Given the description of an element on the screen output the (x, y) to click on. 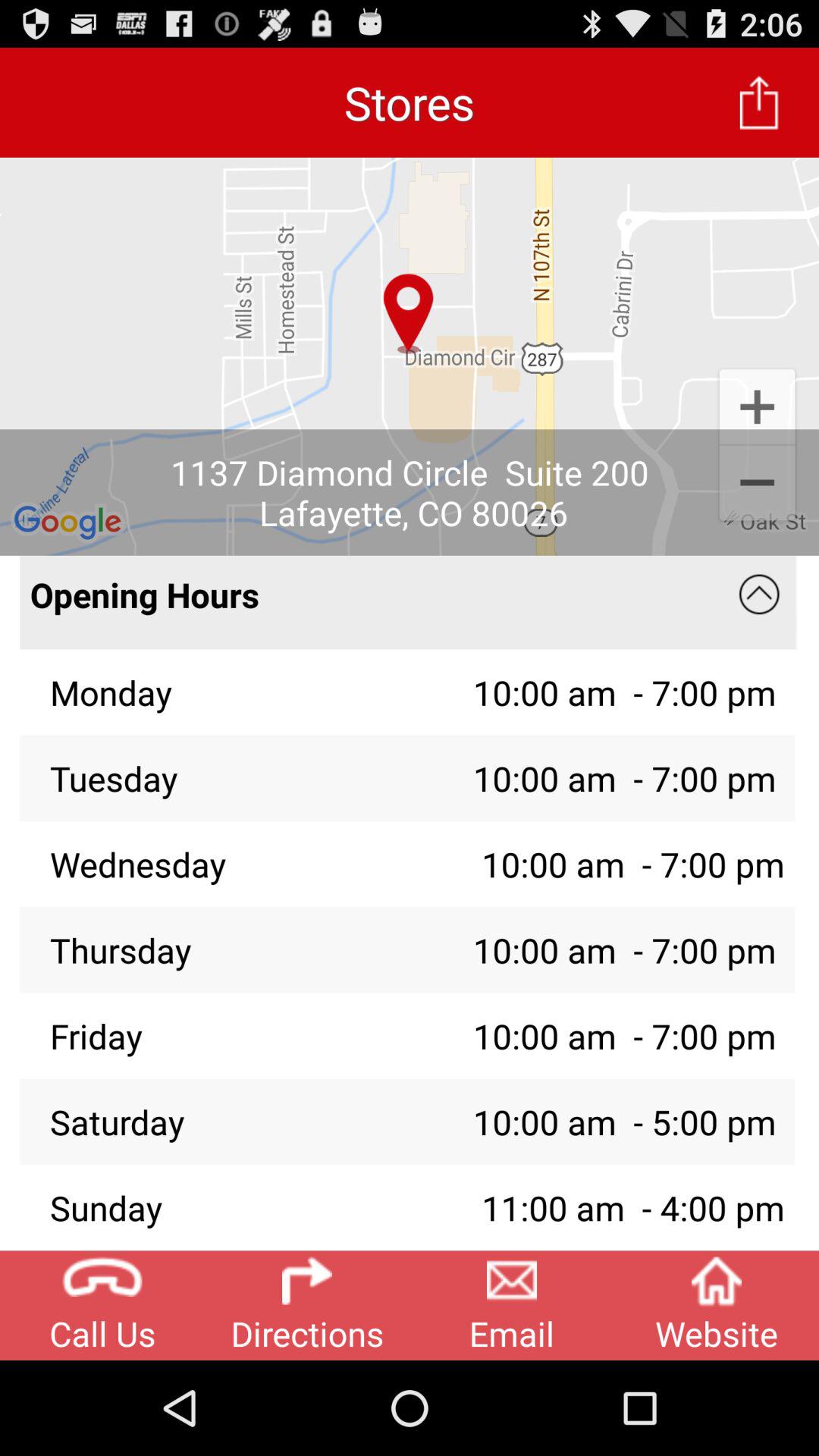
turn off app next to the email item (716, 1305)
